Given the description of an element on the screen output the (x, y) to click on. 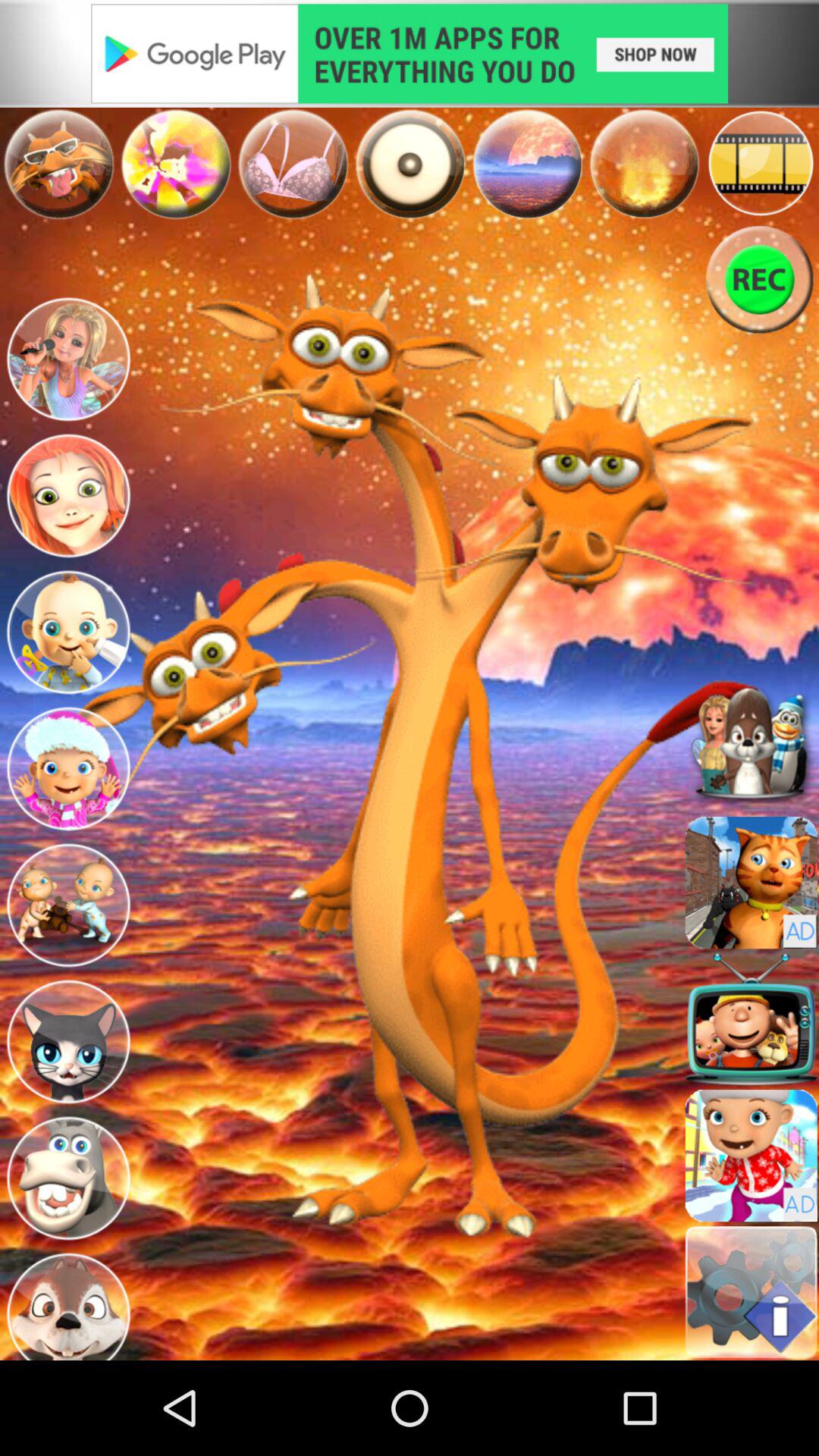
open character game (68, 361)
